Given the description of an element on the screen output the (x, y) to click on. 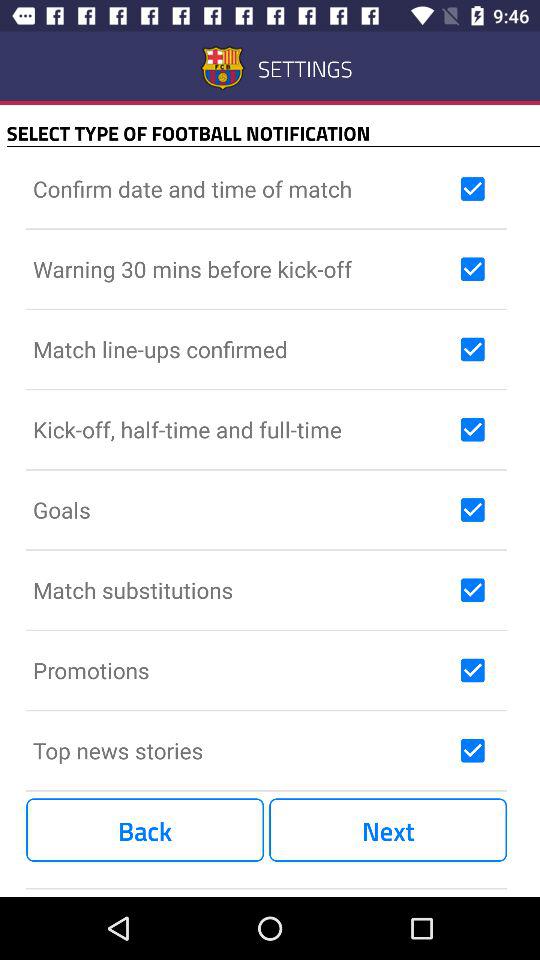
jump until the match line ups (242, 349)
